Given the description of an element on the screen output the (x, y) to click on. 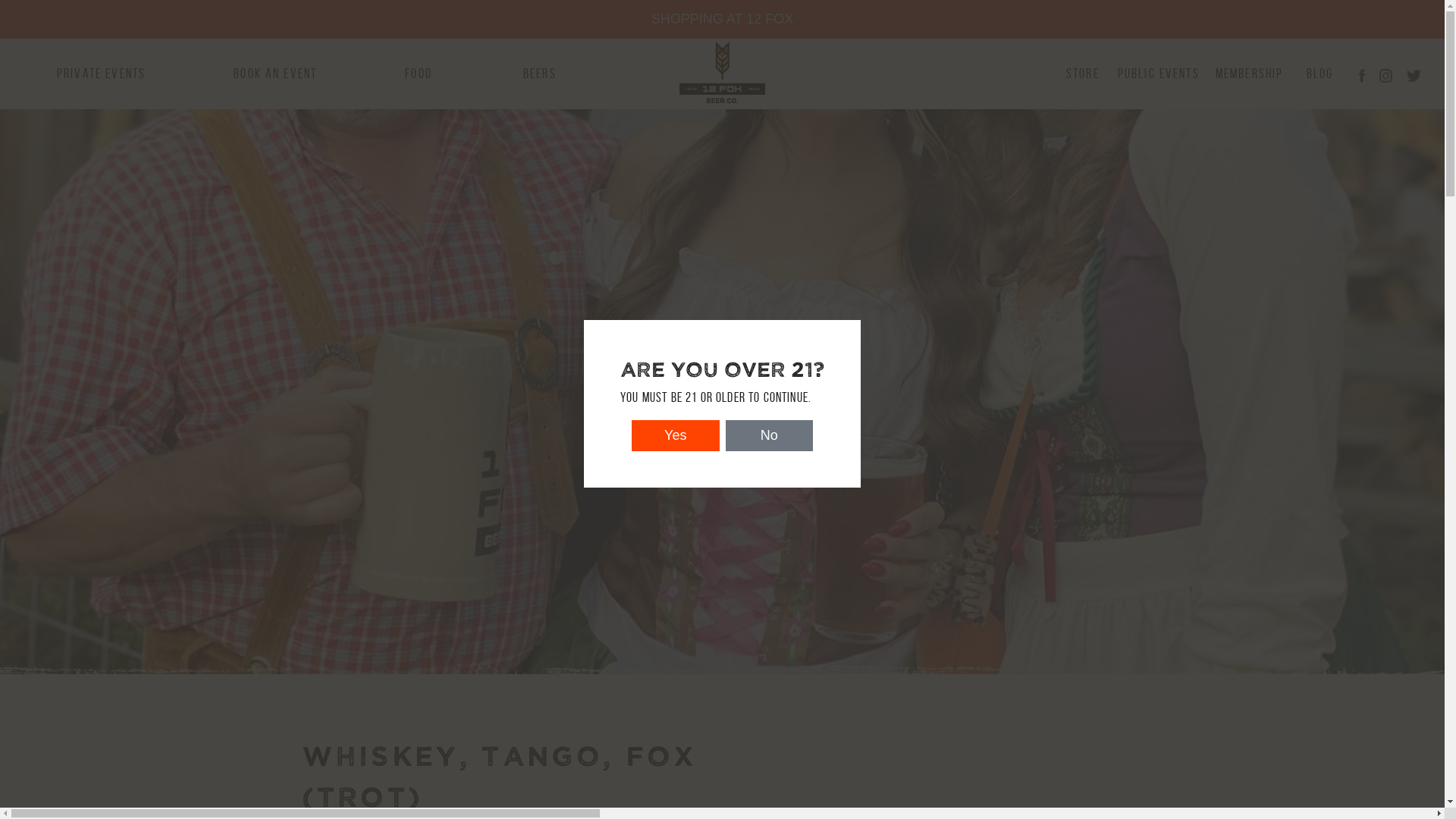
Food Element type: text (418, 73)
Store Element type: text (1082, 73)
No Element type: text (768, 435)
Blog Element type: text (1321, 73)
Book an Event Element type: text (275, 73)
Membership Element type: text (1250, 73)
Beers Element type: text (539, 73)
SHOPPING AT 12 FOX Element type: text (722, 18)
Yes Element type: text (675, 435)
Private Events Element type: text (100, 73)
Public Events Element type: text (1155, 73)
